Given the description of an element on the screen output the (x, y) to click on. 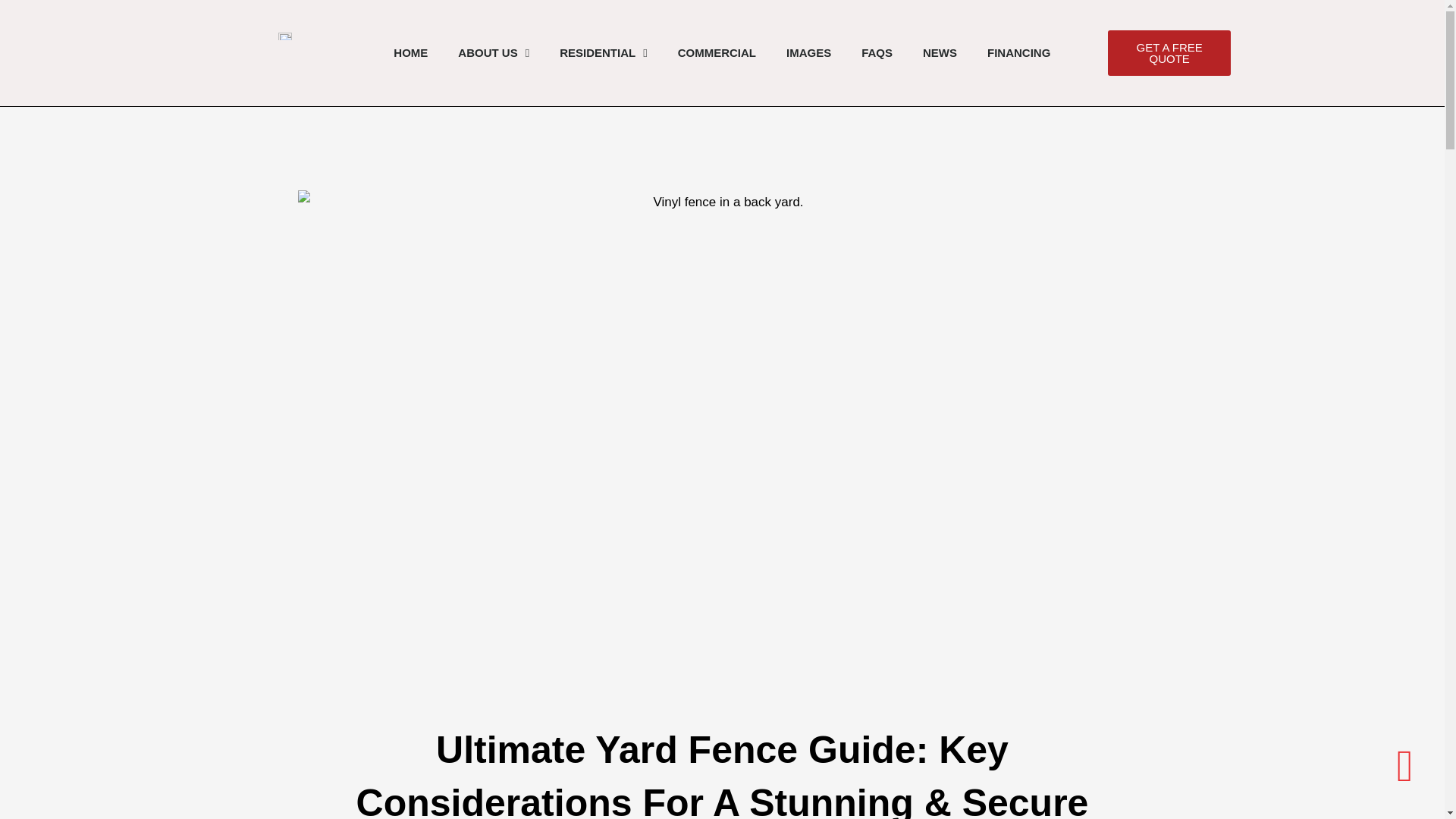
RESIDENTIAL (603, 53)
ABOUT US (493, 53)
HOME (410, 53)
GET A FREE QUOTE (1169, 53)
IMAGES (808, 53)
FAQS (876, 53)
COMMERCIAL (716, 53)
FINANCING (1018, 53)
NEWS (939, 53)
